Given the description of an element on the screen output the (x, y) to click on. 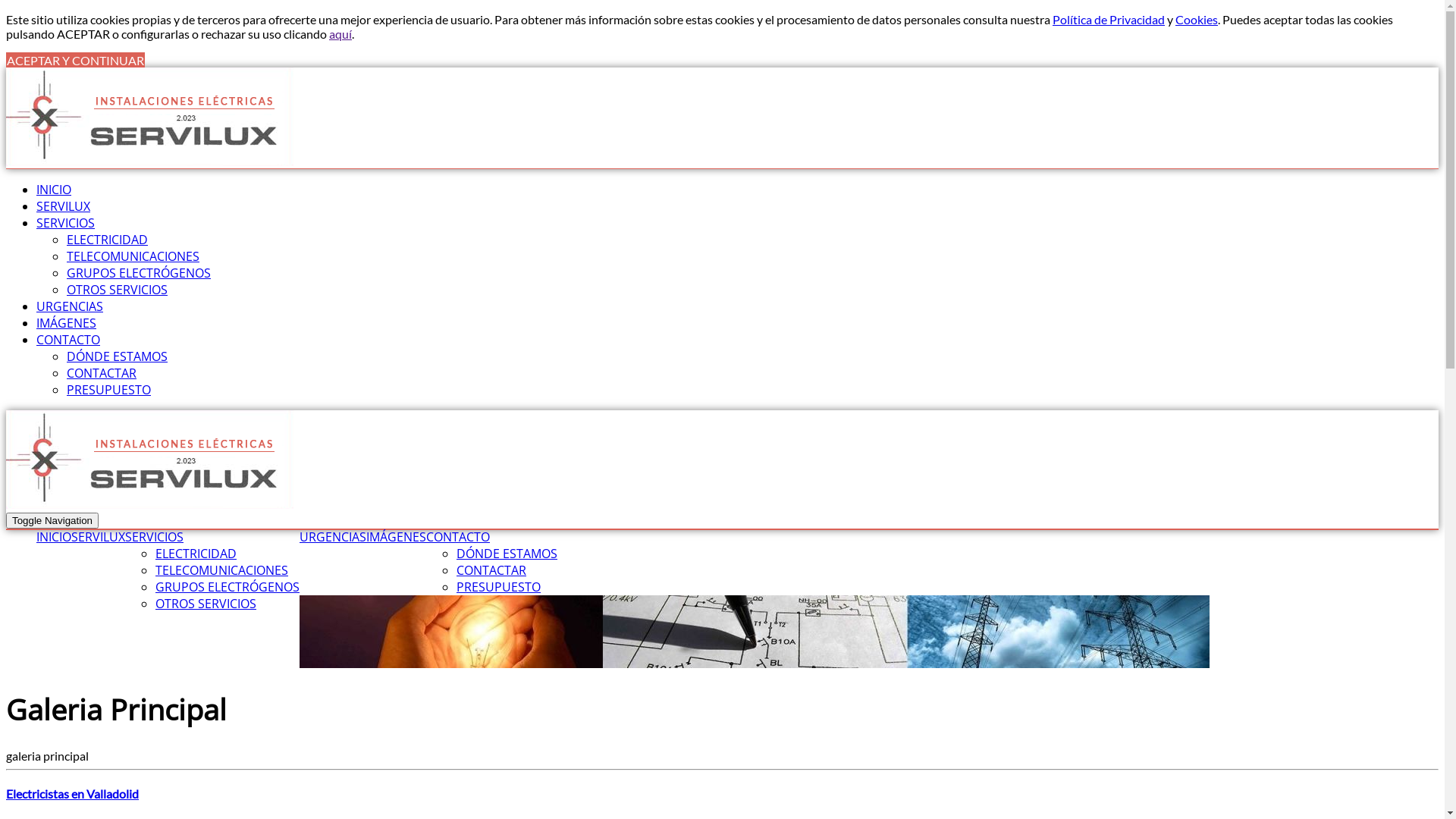
SERVICIOS Element type: text (154, 536)
CONTACTO Element type: text (457, 536)
SERVILUX Element type: text (98, 536)
CONTACTO Element type: text (68, 339)
PRESUPUESTO Element type: text (498, 586)
CONTACTAR Element type: text (491, 569)
INICIO Element type: text (53, 189)
OTROS SERVICIOS Element type: text (205, 603)
ELECTRICIDAD Element type: text (106, 239)
URGENCIAS Element type: text (332, 536)
SERVICIOS Element type: text (65, 222)
PRESUPUESTO Element type: text (108, 389)
TELECOMUNICACIONES Element type: text (132, 255)
SERVILUX Element type: text (63, 205)
SERVILUX Element type: hover (149, 116)
TELECOMUNICACIONES Element type: text (221, 569)
CONTACTAR Element type: text (101, 372)
Cookies Element type: text (1196, 19)
URGENCIAS Element type: text (69, 306)
ELECTRICIDAD Element type: text (195, 553)
Toggle Navigation Element type: text (52, 520)
ACEPTAR Y CONTINUAR Element type: text (75, 60)
INICIO Element type: text (53, 536)
ACEPTAR Element type: text (82, 33)
Empresa de telecomunicaciones en Valladolid Element type: hover (149, 459)
OTROS SERVICIOS Element type: text (116, 289)
